Given the description of an element on the screen output the (x, y) to click on. 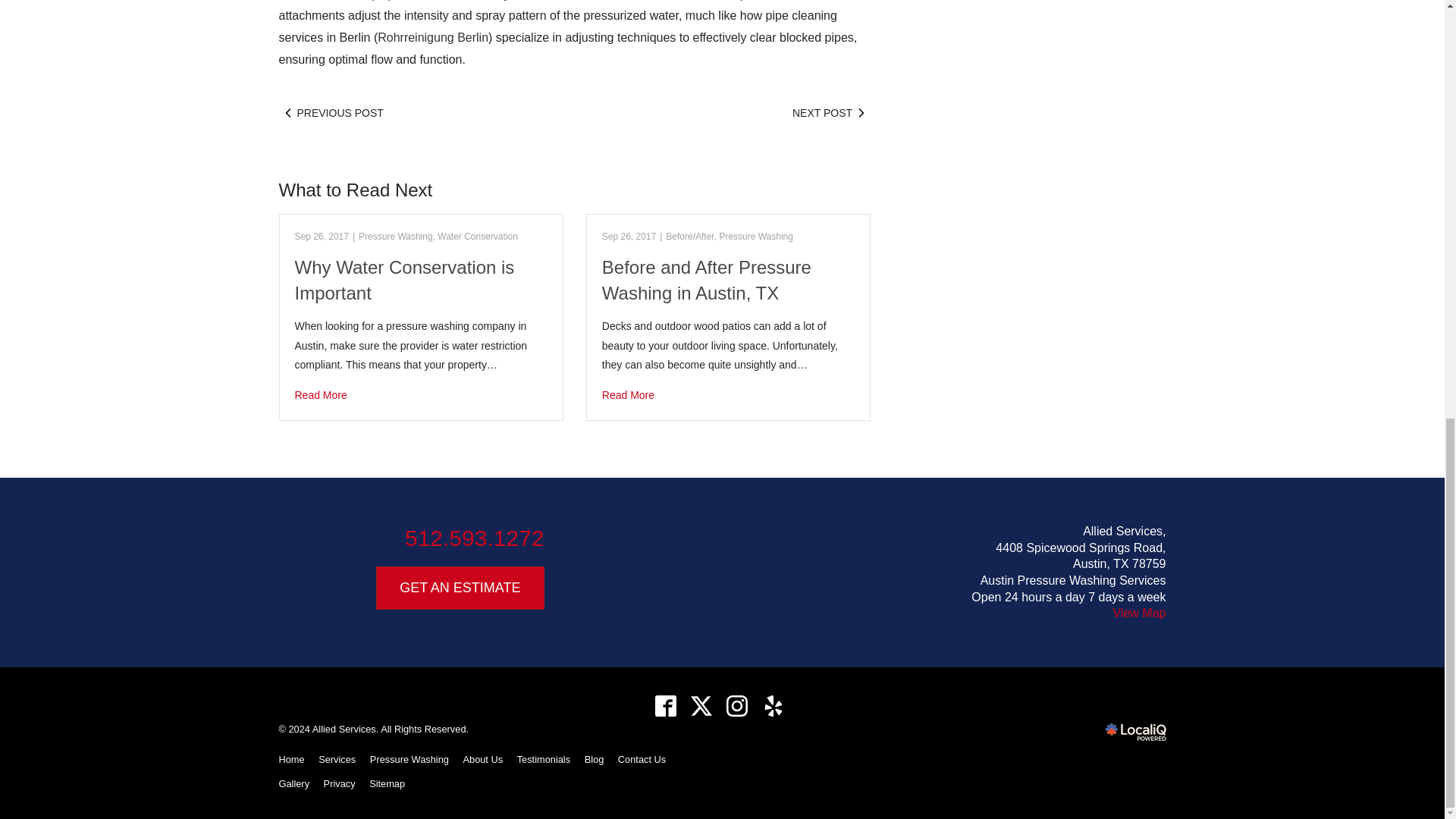
facebook (665, 706)
yelp (773, 706)
twitter (701, 706)
instagram (737, 706)
Before and After Pressure Washing in Austin, TX (728, 394)
Why Water Conservation is Important (420, 394)
